Given the description of an element on the screen output the (x, y) to click on. 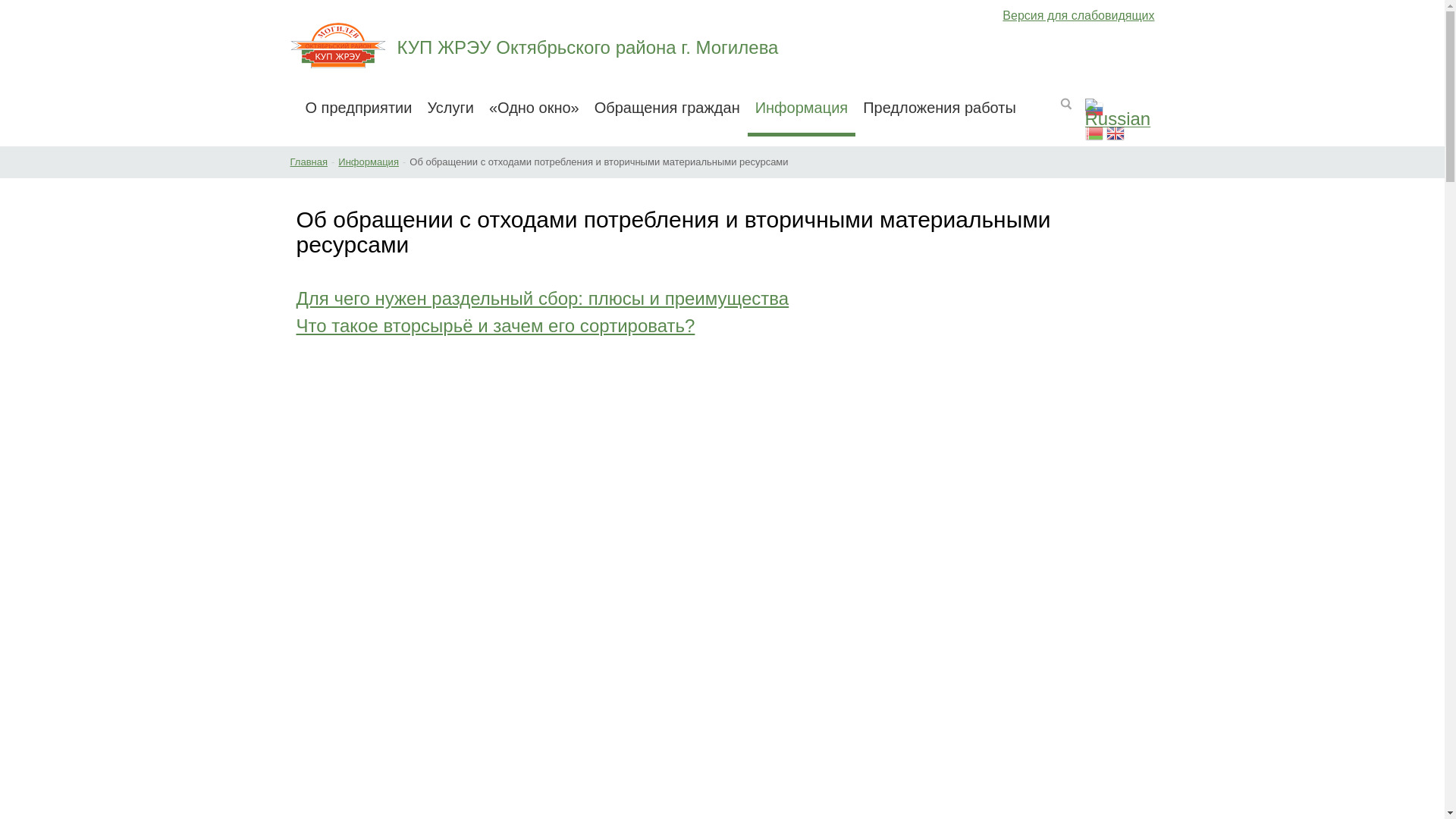
English Element type: hover (1115, 135)
Belarusian Element type: hover (1093, 135)
Russian Element type: hover (1119, 111)
